Given the description of an element on the screen output the (x, y) to click on. 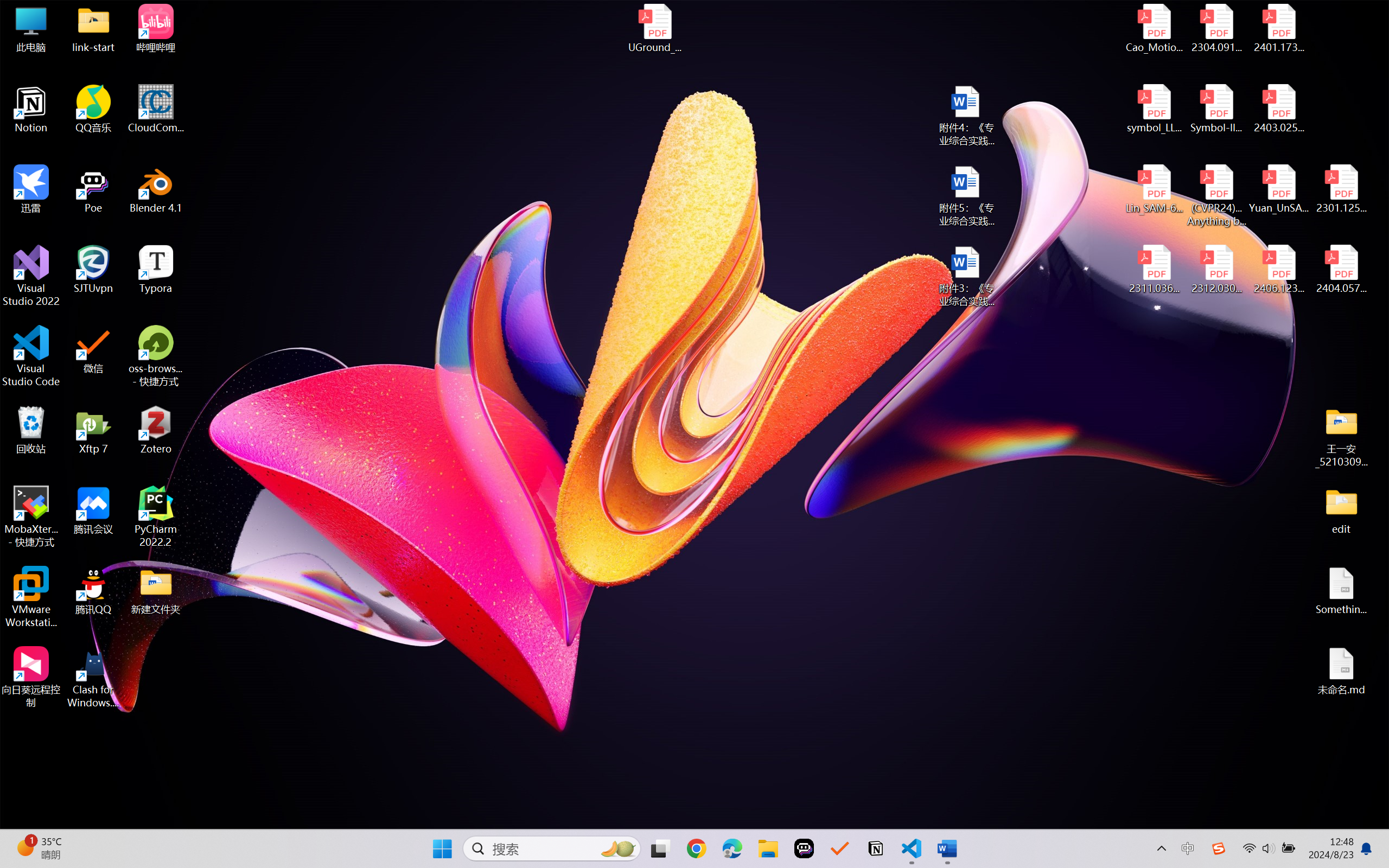
2312.03032v2.pdf (1216, 269)
2404.05719v1.pdf (1340, 269)
Visual Studio 2022 (31, 276)
(CVPR24)Matching Anything by Segmenting Anything.pdf (1216, 195)
